Given the description of an element on the screen output the (x, y) to click on. 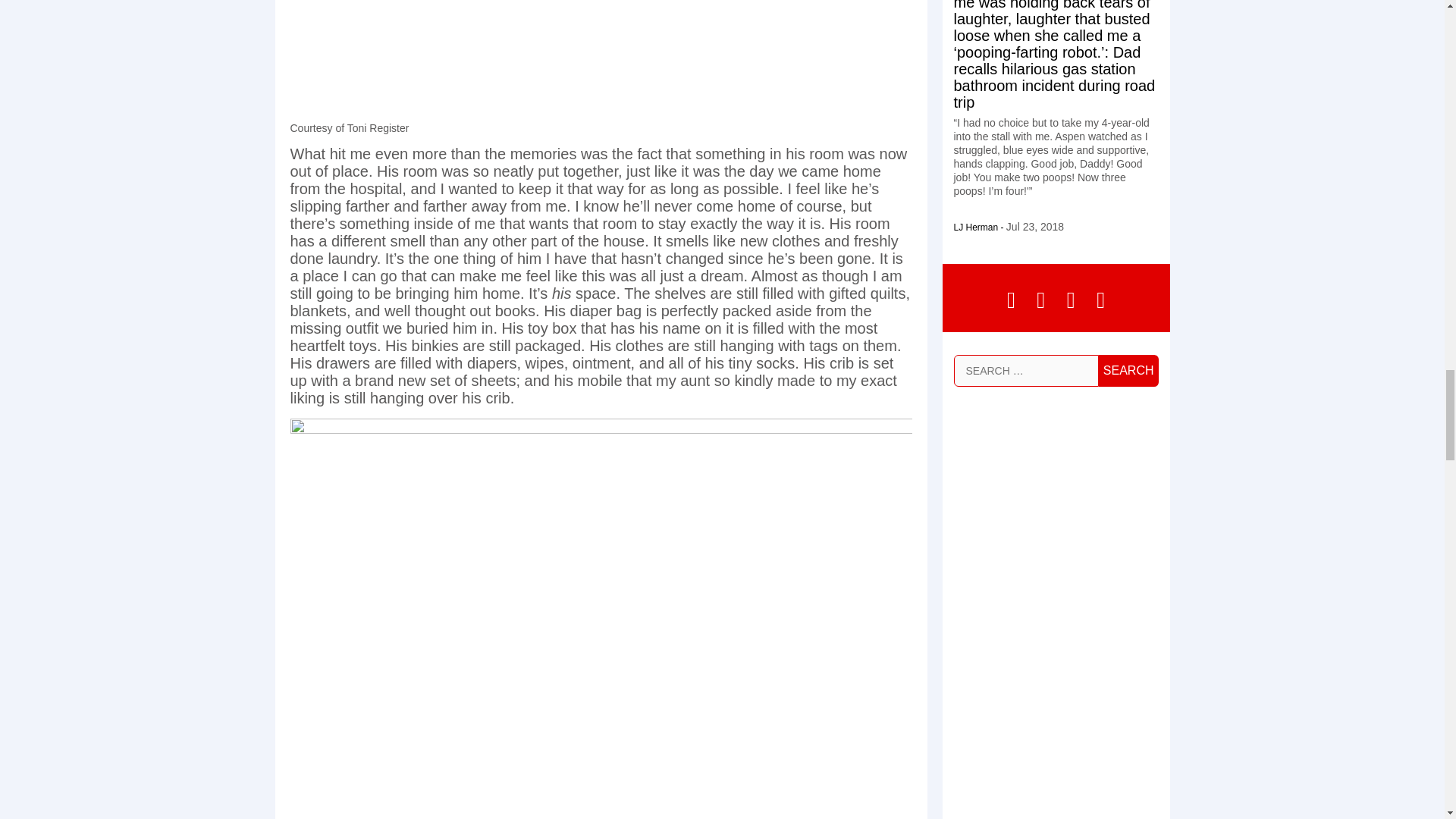
Search (1128, 370)
July 23, 2018 (1035, 225)
Search (1128, 370)
